Given the description of an element on the screen output the (x, y) to click on. 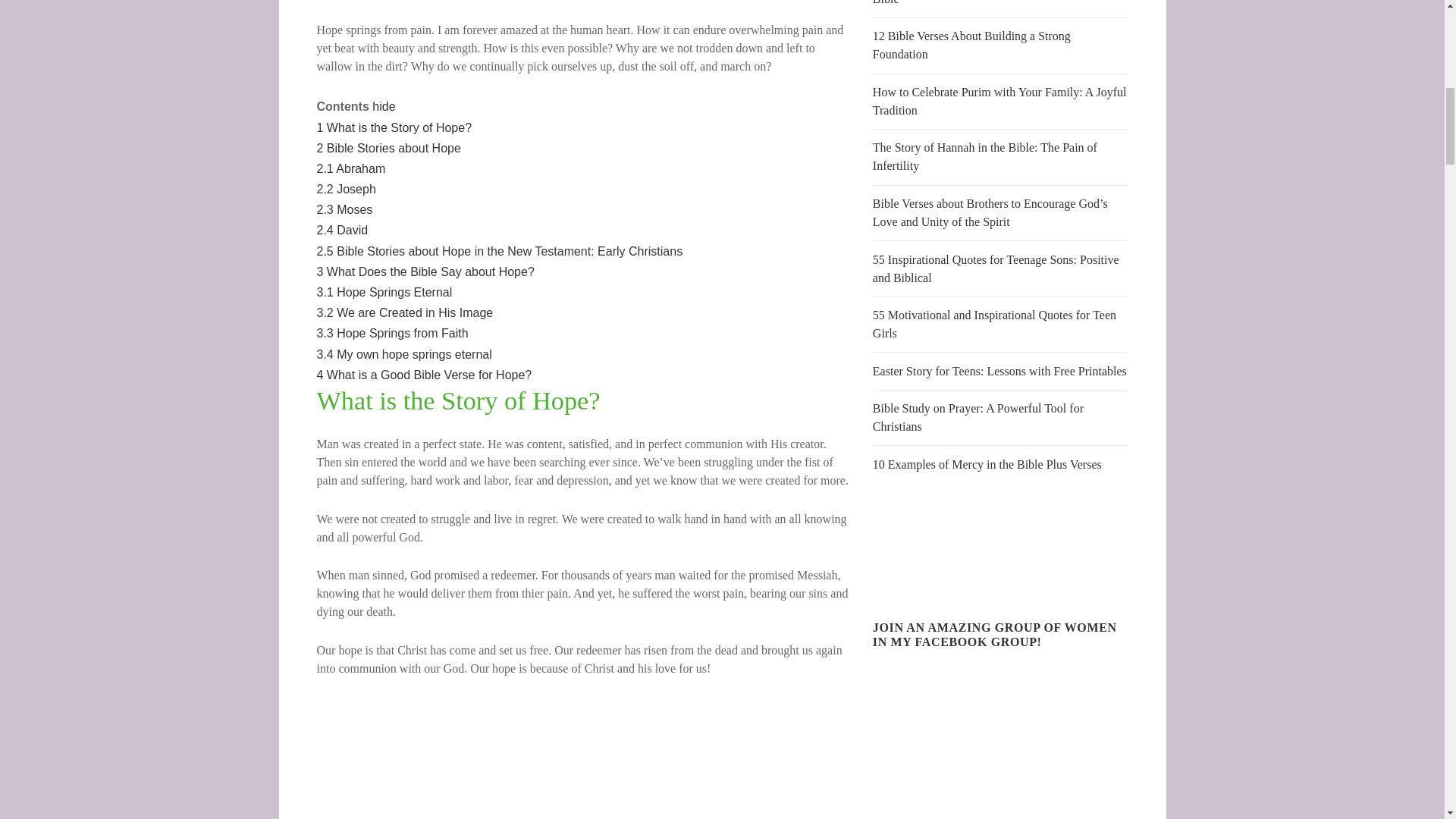
4 What is a Good Bible Verse for Hope? (424, 374)
2.4 David (342, 229)
2 Bible Stories about Hope (389, 147)
2.2 Joseph (346, 188)
3.1 Hope Springs Eternal (384, 291)
3.2 We are Created in His Image (405, 312)
3 What Does the Bible Say about Hope? (425, 271)
2.1 Abraham (351, 168)
3.3 Hope Springs from Faith (392, 332)
